Given the description of an element on the screen output the (x, y) to click on. 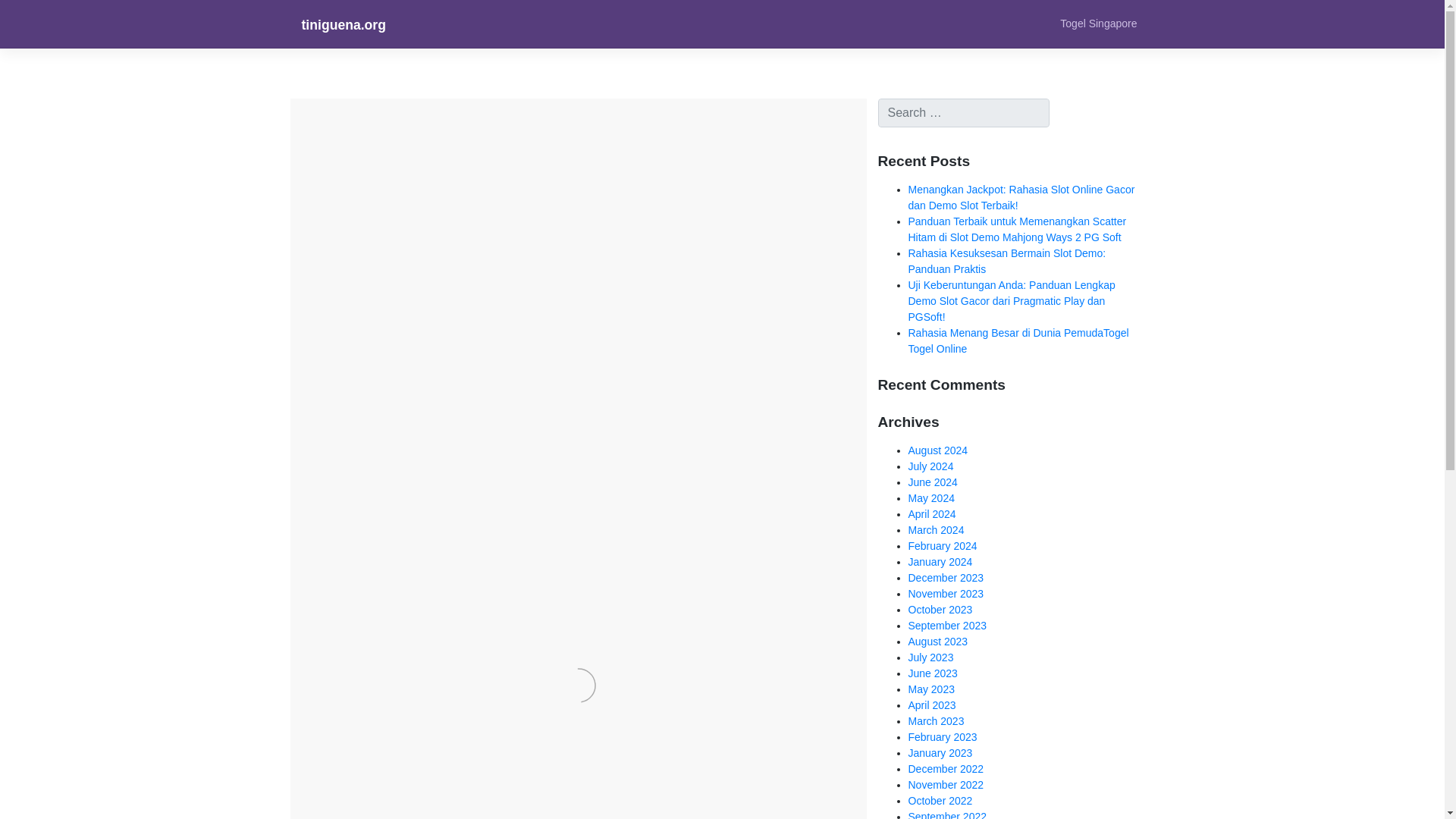
September 21, 2022 (413, 219)
Togel Singapore (1098, 23)
tiniguena.org (343, 24)
DEMO SLOT (336, 371)
Search for: (963, 112)
admintinigu (526, 219)
Search (29, 14)
Four Ways to Deposit at Pragmatic Play (473, 181)
Togel Singapore (1098, 23)
